Given the description of an element on the screen output the (x, y) to click on. 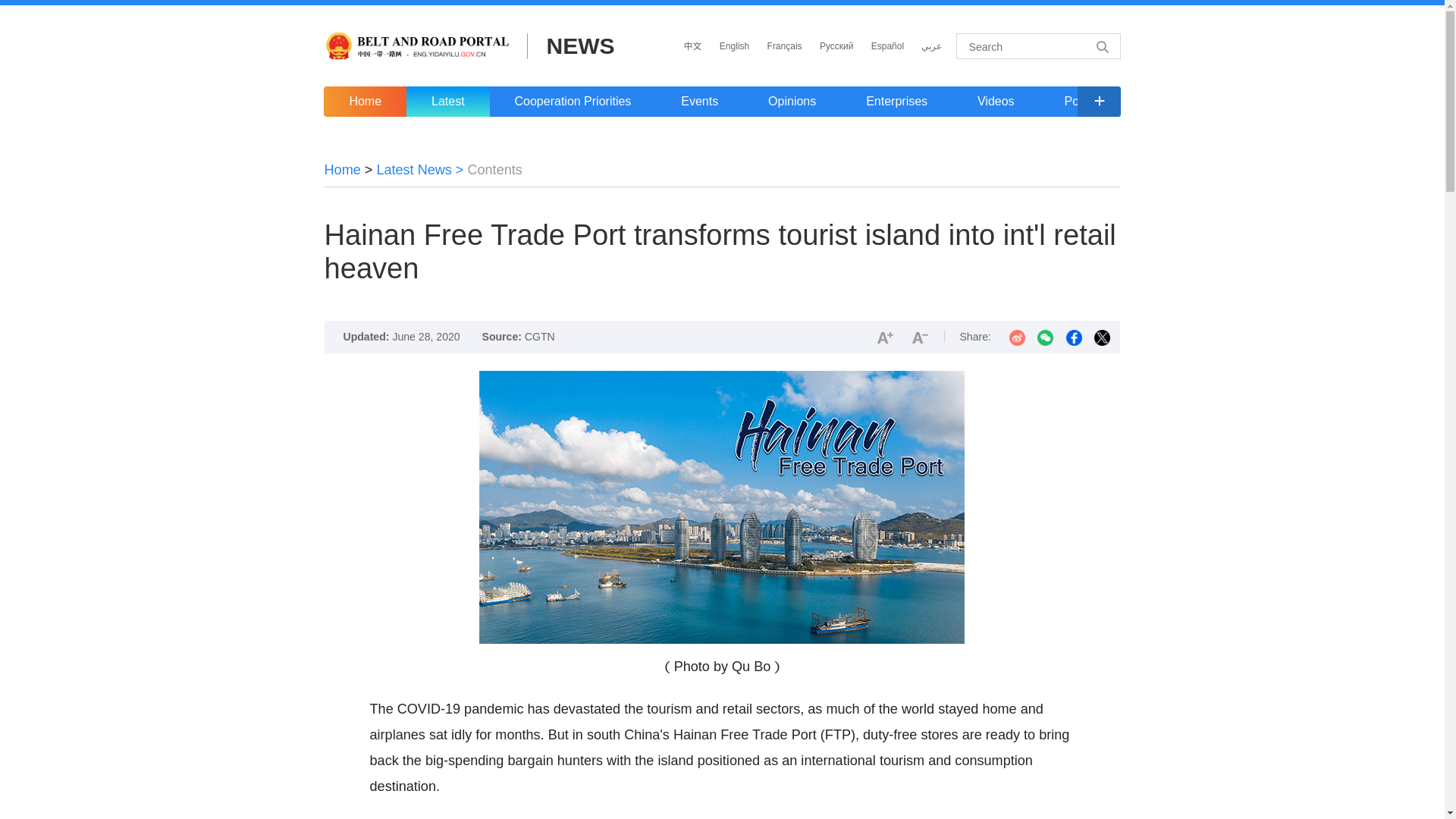
Cooperation Priorities (572, 101)
Videos (995, 101)
Opinions (791, 101)
Enterprises (896, 101)
Policy Coordination (1116, 101)
Home (342, 169)
Home (364, 101)
Latest (447, 101)
English (734, 46)
Facilities Connectivity (1276, 101)
